Given the description of an element on the screen output the (x, y) to click on. 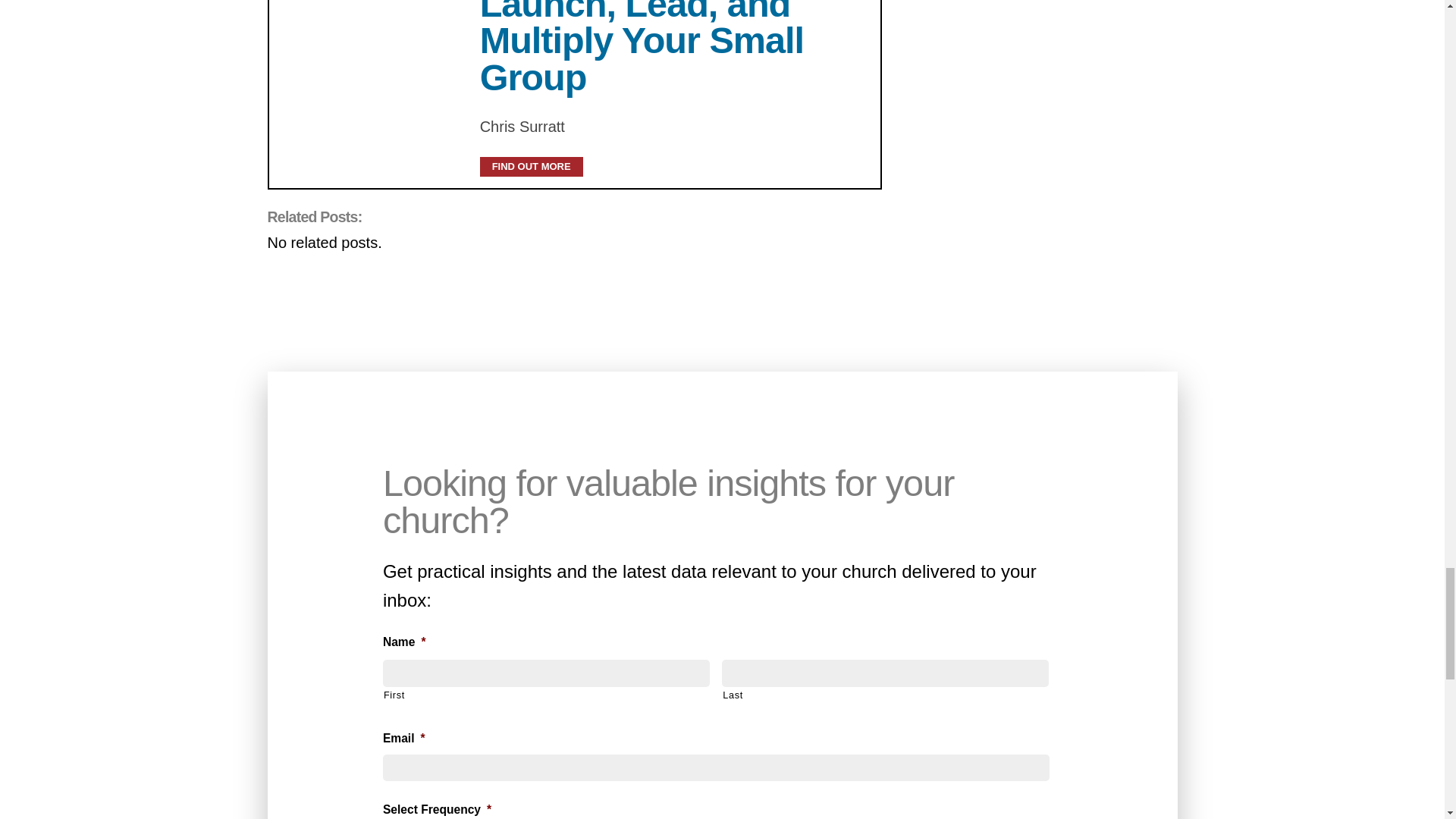
FIND OUT MORE (531, 166)
